Given the description of an element on the screen output the (x, y) to click on. 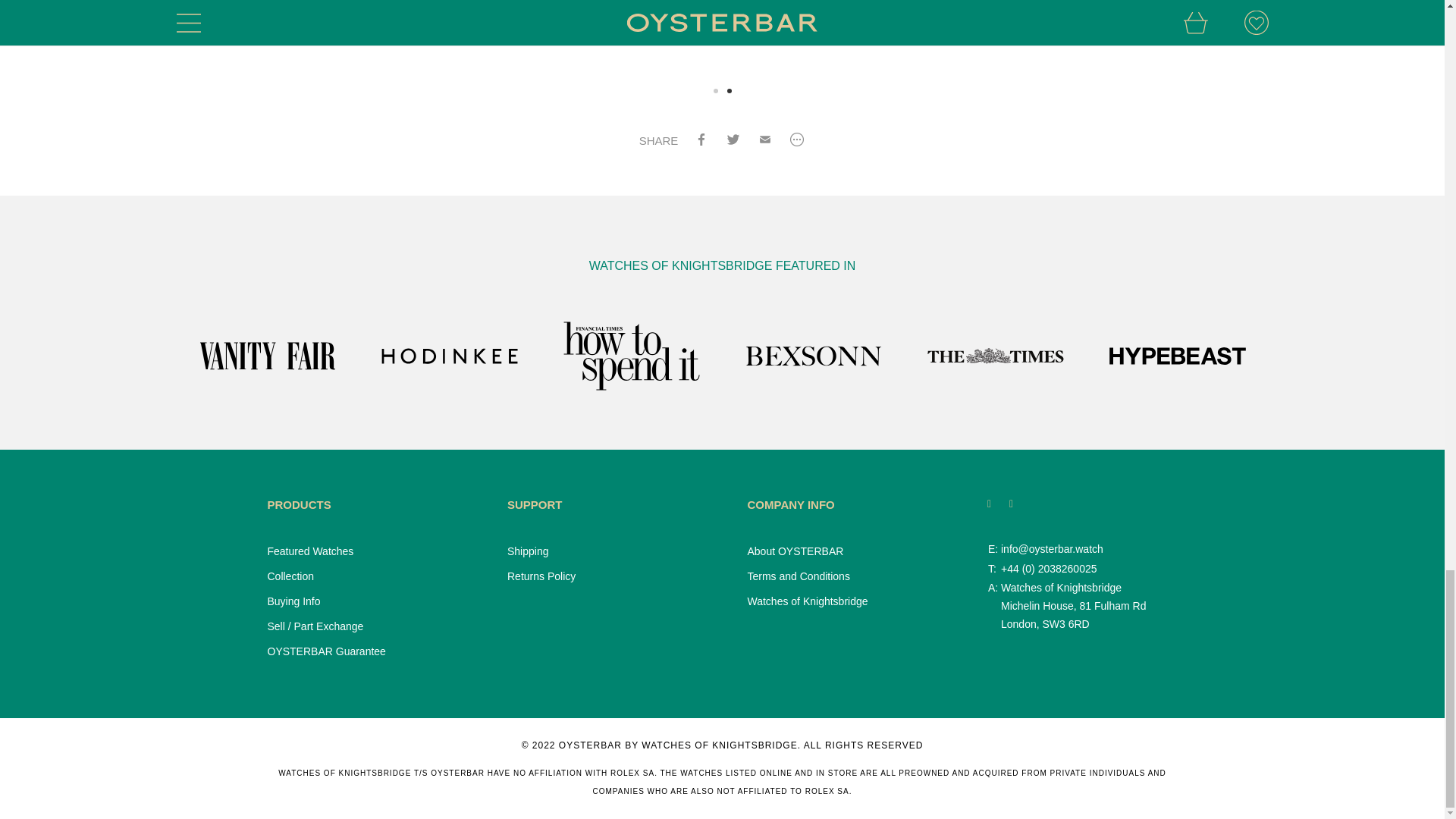
Email (764, 141)
Twitter (733, 141)
Facebook (701, 141)
